Given the description of an element on the screen output the (x, y) to click on. 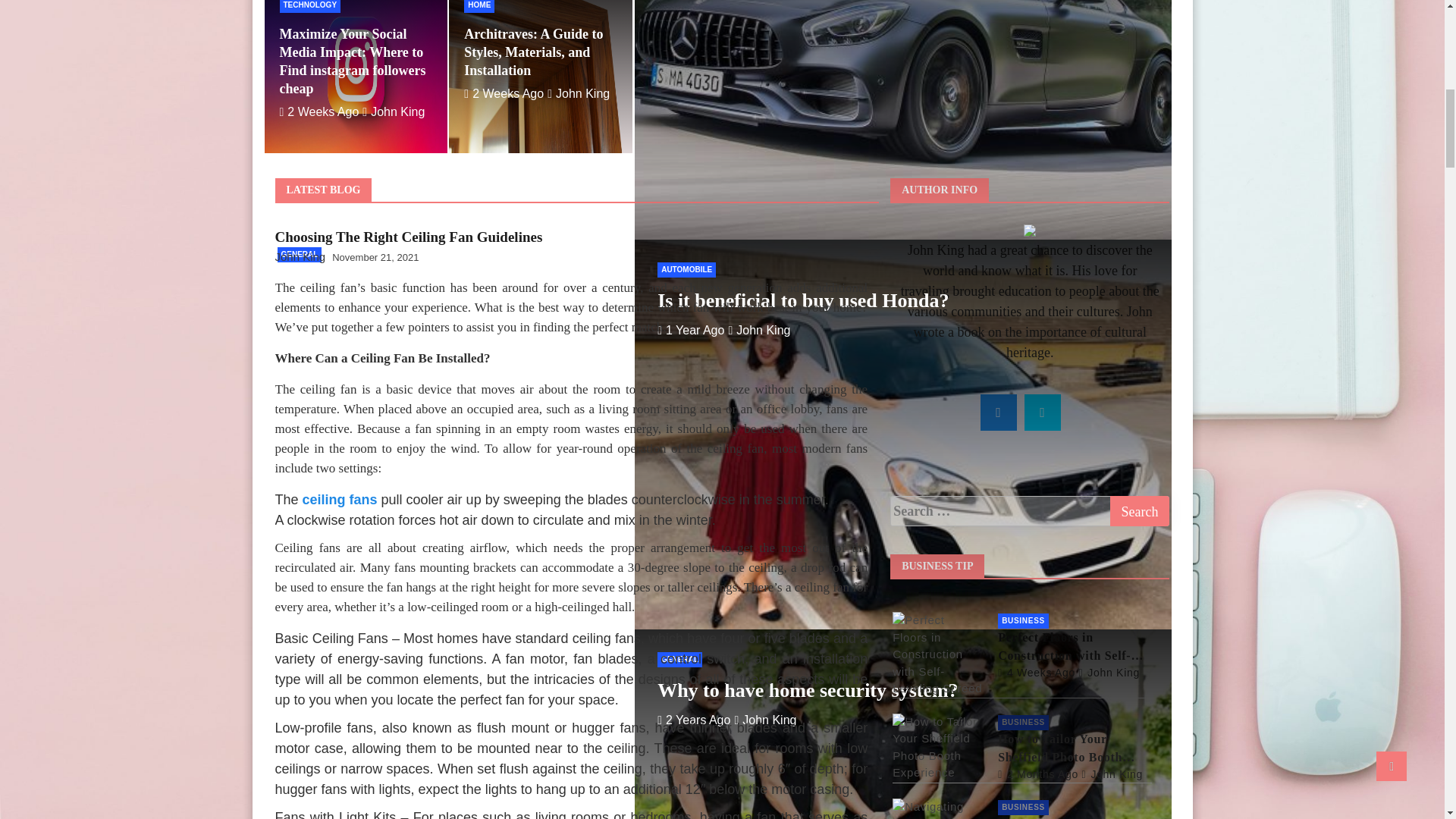
Why to have home security system? (694, 719)
Search (1139, 511)
Architraves: A Guide to Styles, Materials, and Installation (503, 92)
Is it beneficial to buy used Honda? (690, 329)
2 Weeks Ago (318, 111)
Search (1139, 511)
TECHNOLOGY (309, 6)
